Given the description of an element on the screen output the (x, y) to click on. 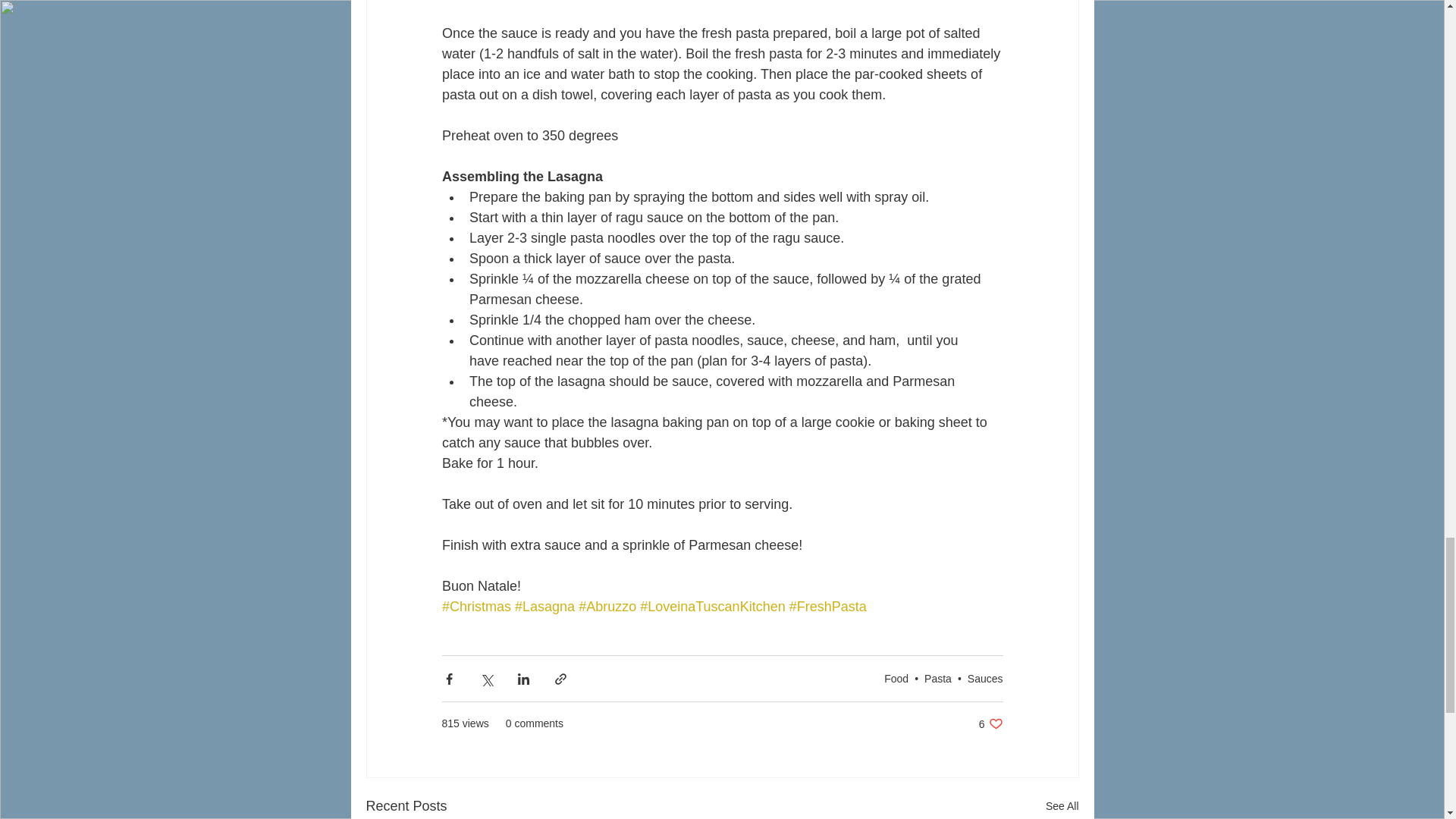
Pasta (938, 678)
See All (990, 723)
Sauces (1061, 806)
Food (985, 678)
